Given the description of an element on the screen output the (x, y) to click on. 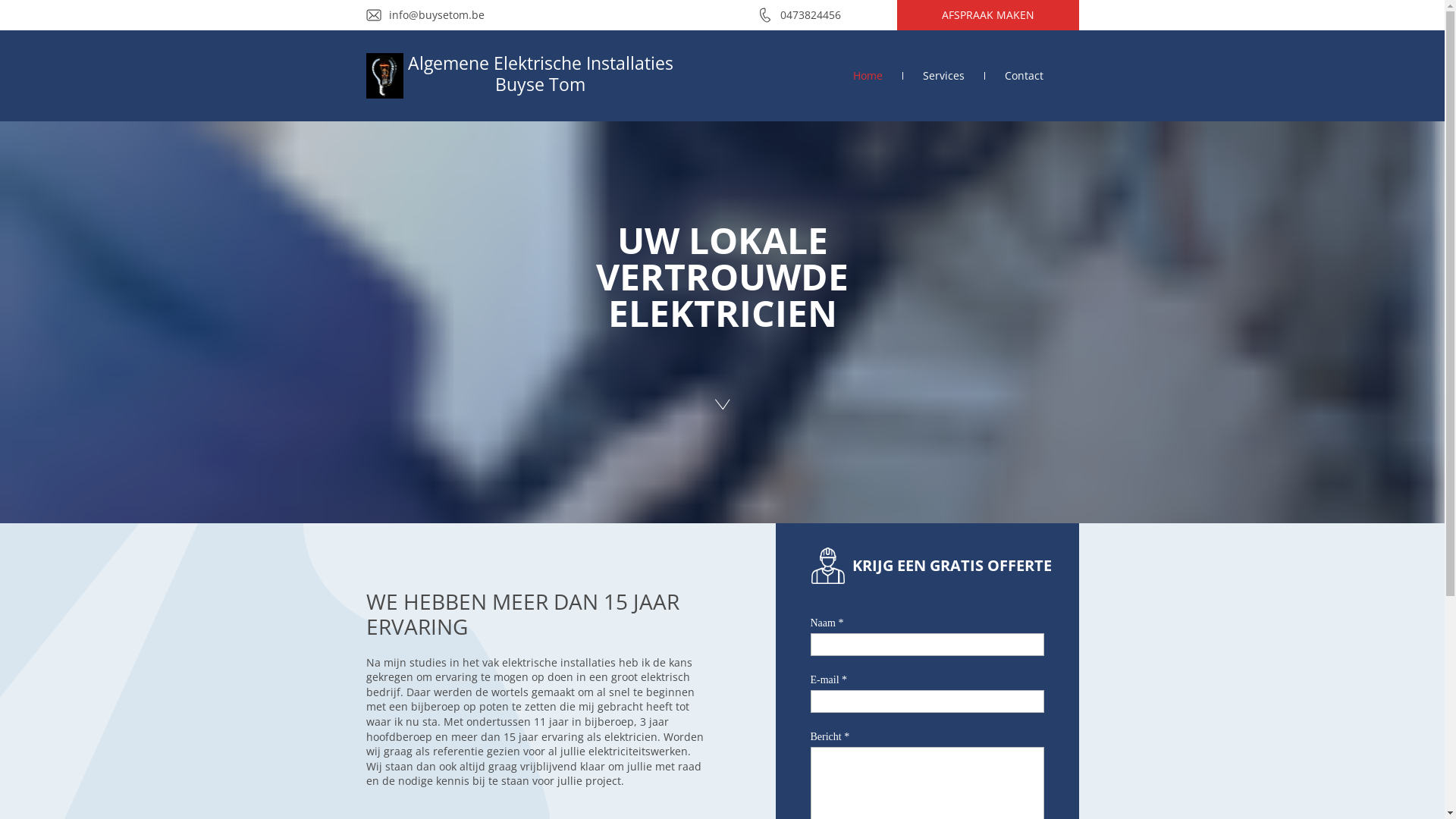
Contact Element type: text (1023, 75)
Services Element type: text (942, 75)
0473824456 Element type: text (809, 14)
Home Element type: text (866, 75)
AFSPRAAK MAKEN Element type: text (987, 15)
info@buysetom.be Element type: text (435, 14)
